Given the description of an element on the screen output the (x, y) to click on. 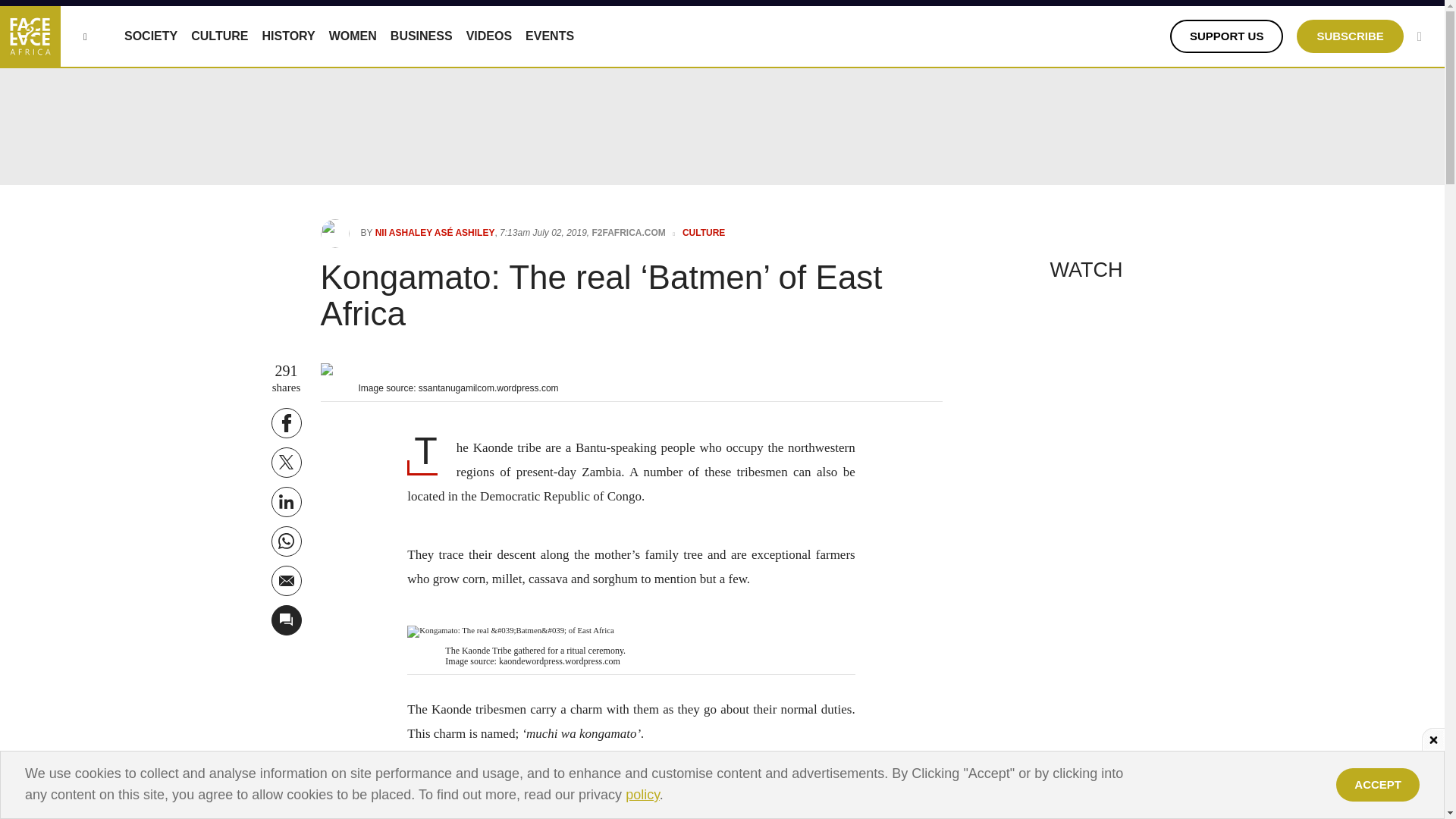
SUPPORT US (1227, 36)
HISTORY (288, 35)
WOMEN (353, 35)
CULTURE (218, 35)
BUSINESS (421, 35)
3rd party ad content (722, 785)
SUBSCRIBE (1350, 36)
EVENTS (549, 35)
VIDEOS (488, 35)
SOCIETY (150, 35)
